Given the description of an element on the screen output the (x, y) to click on. 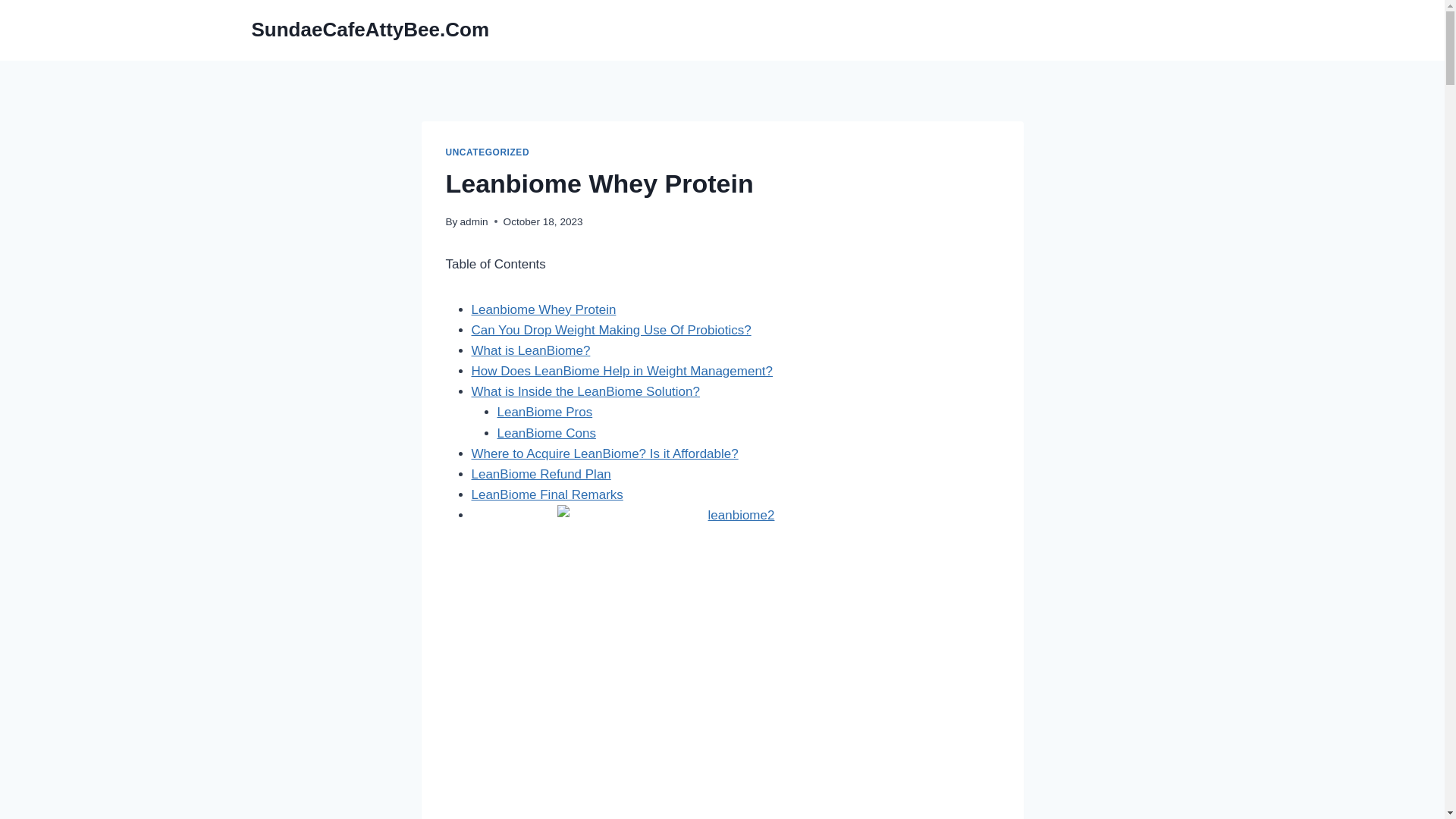
How Does LeanBiome Help in Weight Management? (622, 370)
SundaeCafeAttyBee.Com (370, 29)
What is LeanBiome? (531, 350)
LeanBiome Pros (544, 411)
Where to Acquire LeanBiome? Is it Affordable? (604, 453)
How Does LeanBiome Help in Weight Management? (622, 370)
LeanBiome Pros (544, 411)
What is LeanBiome? (531, 350)
What is Inside the LeanBiome Solution? (585, 391)
admin (473, 221)
